Given the description of an element on the screen output the (x, y) to click on. 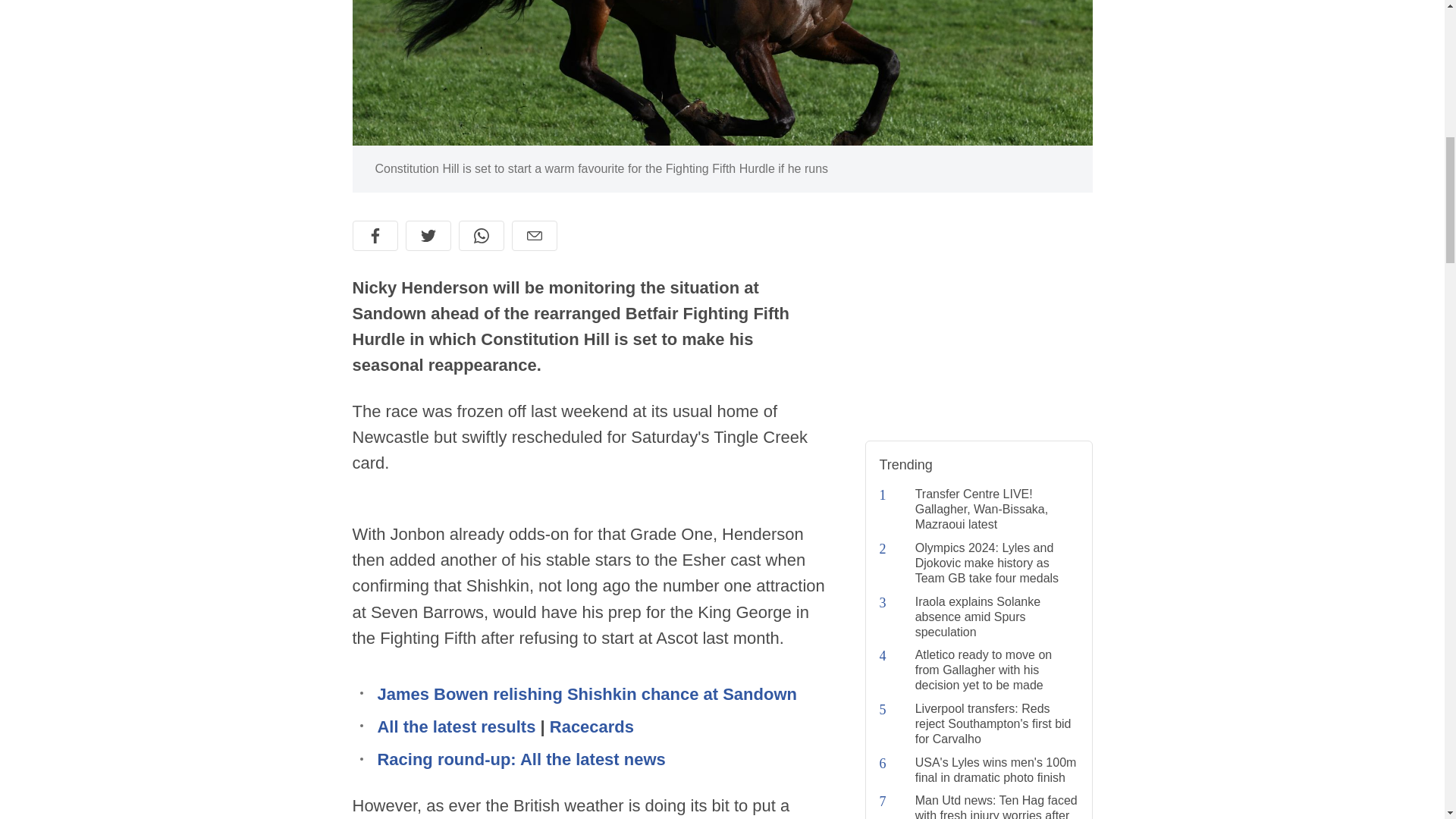
Share on WhatsApp (480, 235)
Share by email (533, 235)
Share on Twitter (426, 235)
Share on Facebook (374, 235)
